Given the description of an element on the screen output the (x, y) to click on. 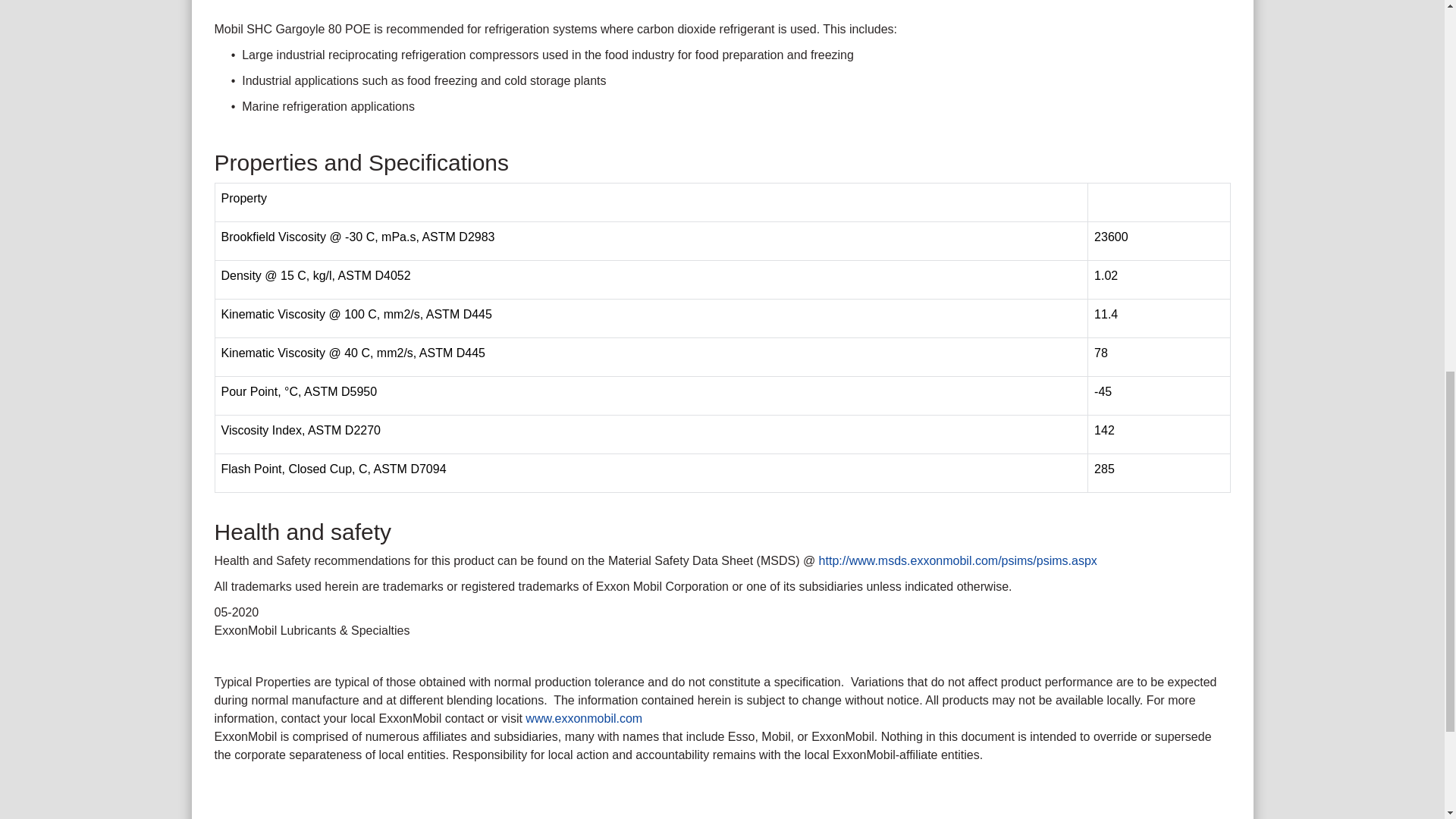
www.exxonmobil.com (583, 717)
